Given the description of an element on the screen output the (x, y) to click on. 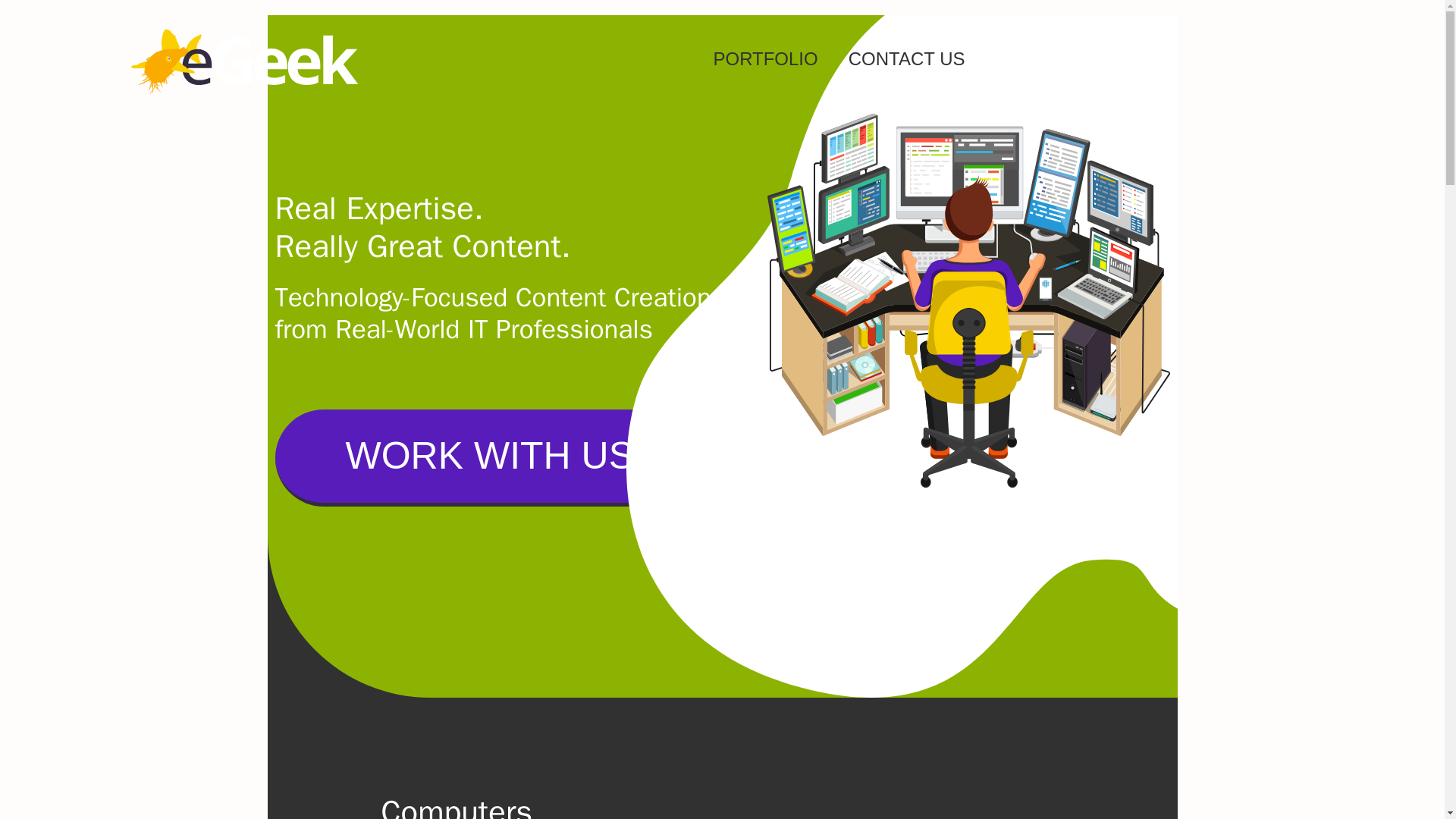
WORK WITH US (489, 457)
PORTFOLIO (764, 58)
CONTACT US (905, 58)
